Given the description of an element on the screen output the (x, y) to click on. 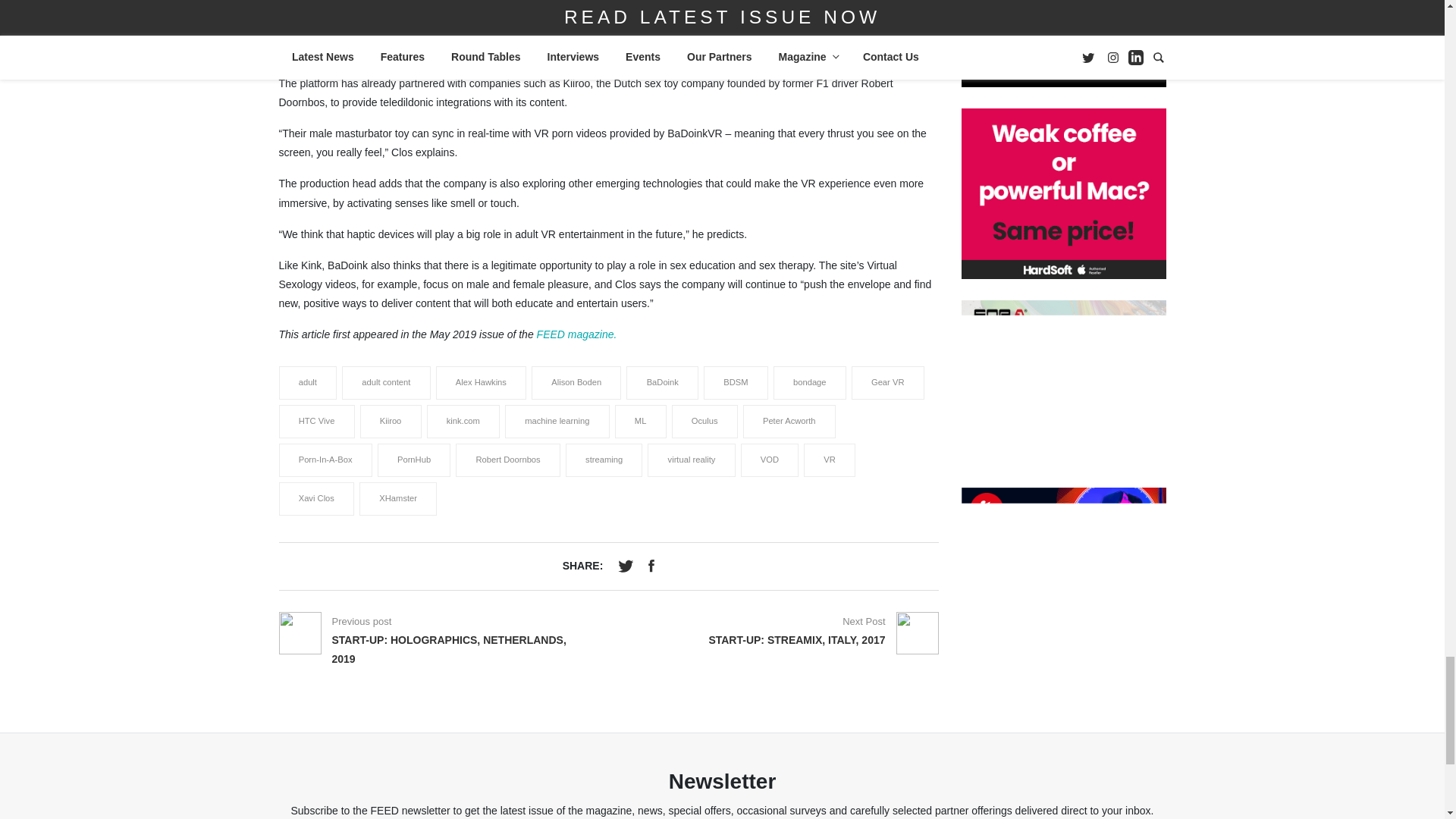
FEED magazine. (577, 334)
ML (640, 421)
kink.com (463, 421)
Peter Acworth (789, 421)
HTC Vive (315, 421)
Start-up: Streamix, Italy, 2017 (864, 621)
Twitter (627, 563)
Gear VR (887, 382)
Kiiroo (390, 421)
Porn-In-A-Box (324, 459)
